Given the description of an element on the screen output the (x, y) to click on. 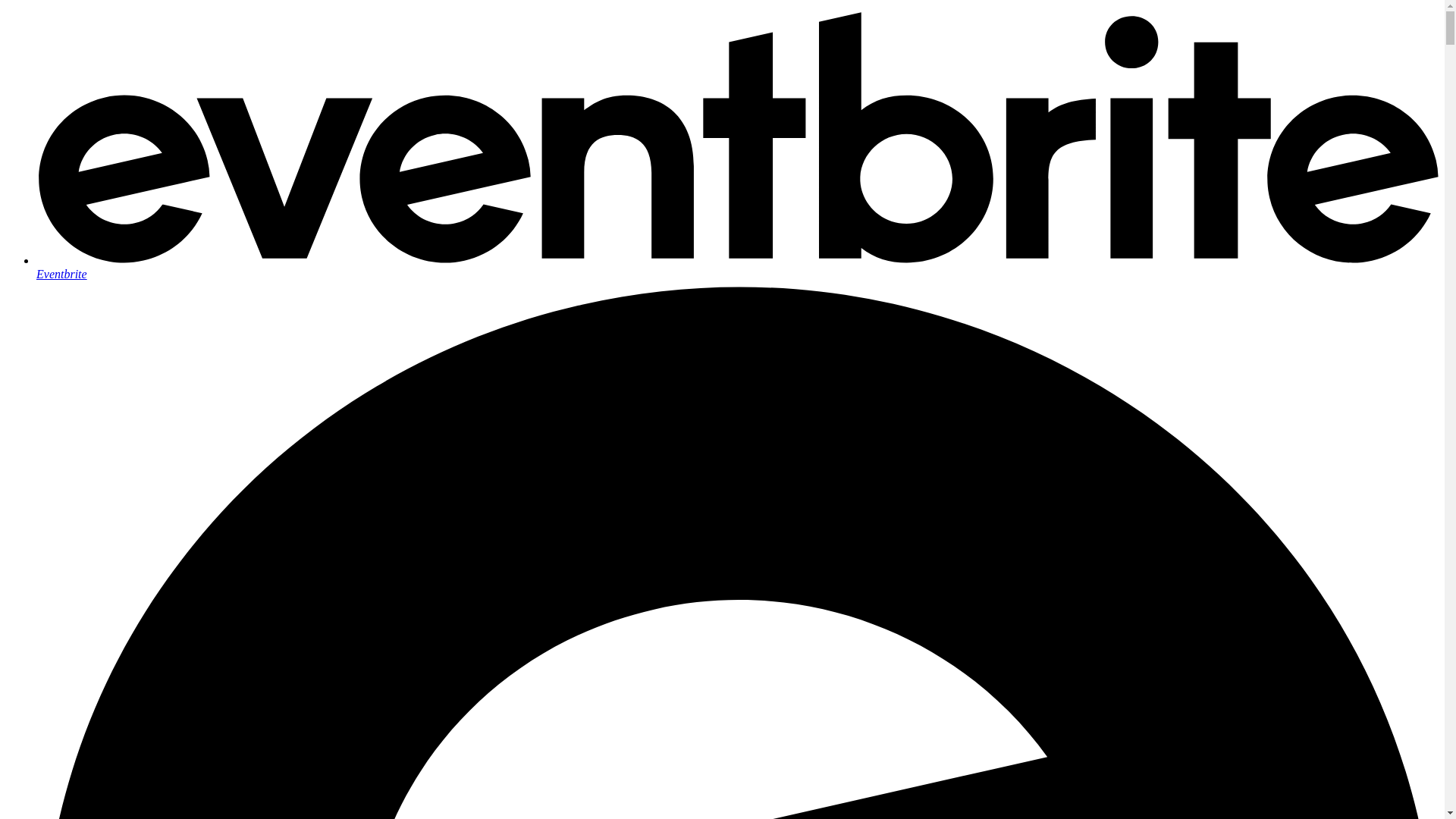
Eventbrite Element type: text (737, 267)
